Given the description of an element on the screen output the (x, y) to click on. 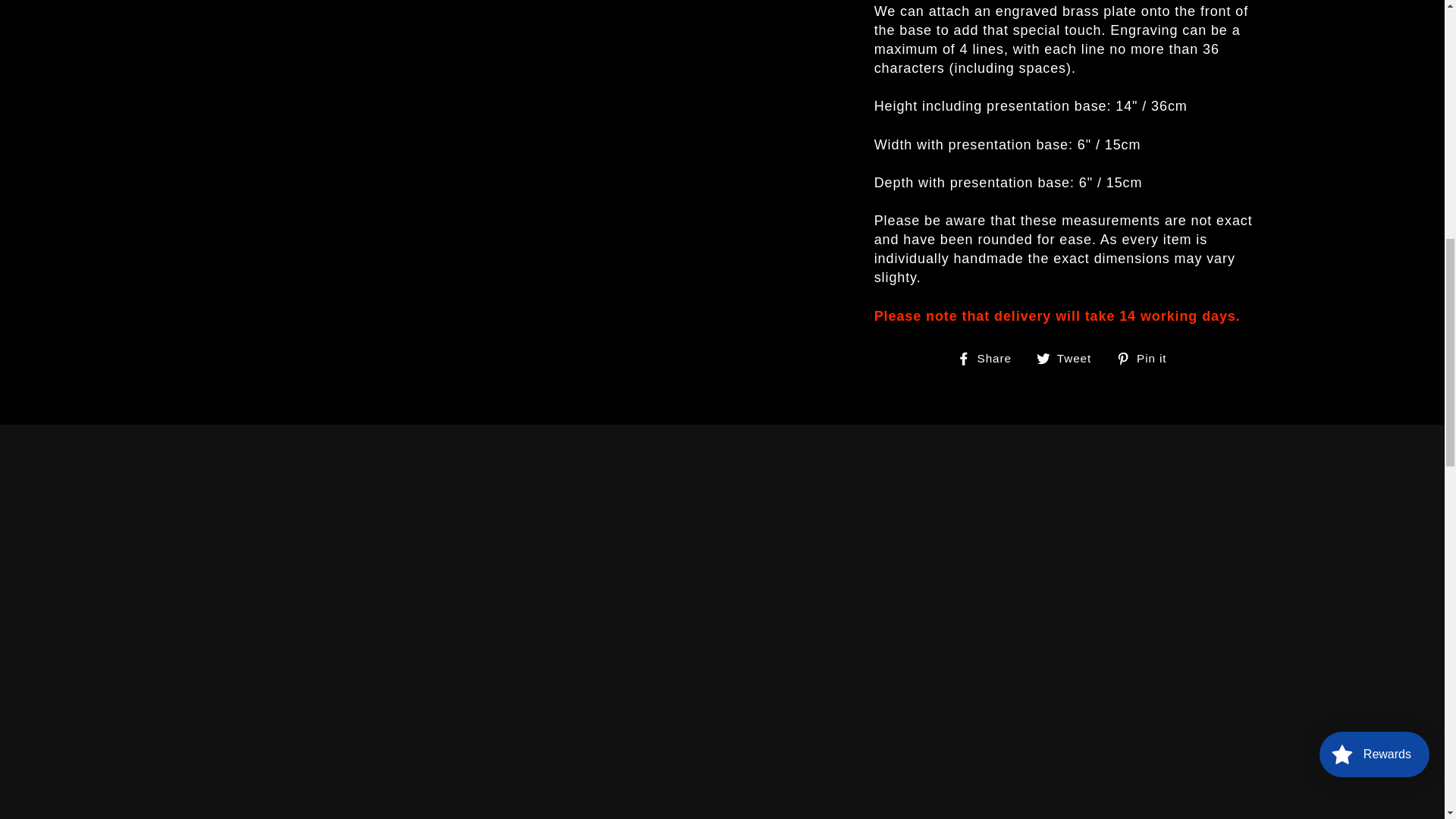
Share on Facebook (989, 357)
Pin on Pinterest (1146, 357)
Tweet on Twitter (1069, 357)
